Given the description of an element on the screen output the (x, y) to click on. 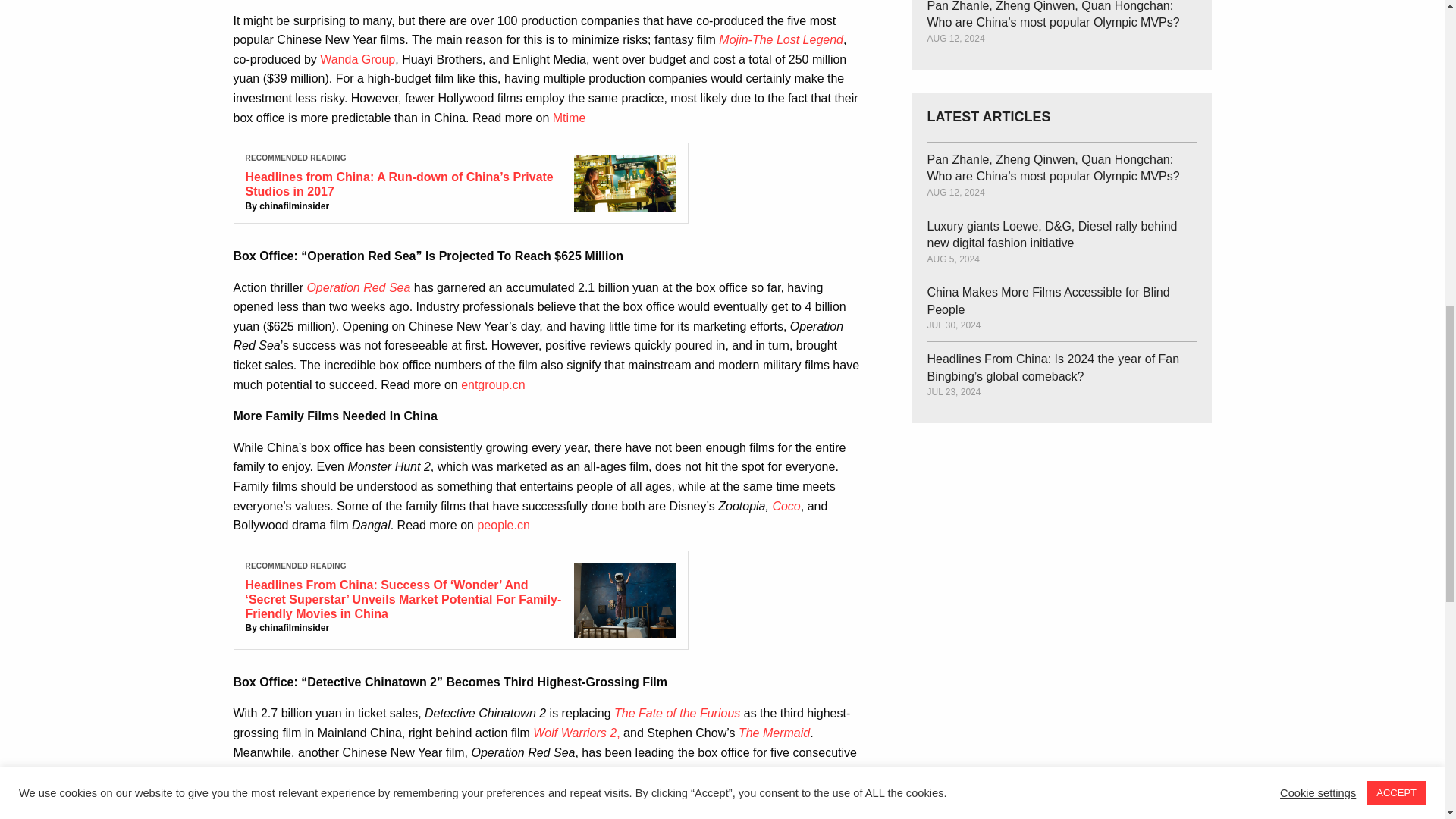
Mtime (569, 117)
Coco (785, 505)
Wanda Group (357, 59)
Wolf Warriors 2, (576, 732)
Mojin-The Lost Legend (781, 39)
Operation Red Sea (357, 287)
people.cn (503, 524)
The Fate of the Furious (676, 712)
entgroup.cn (493, 384)
